Given the description of an element on the screen output the (x, y) to click on. 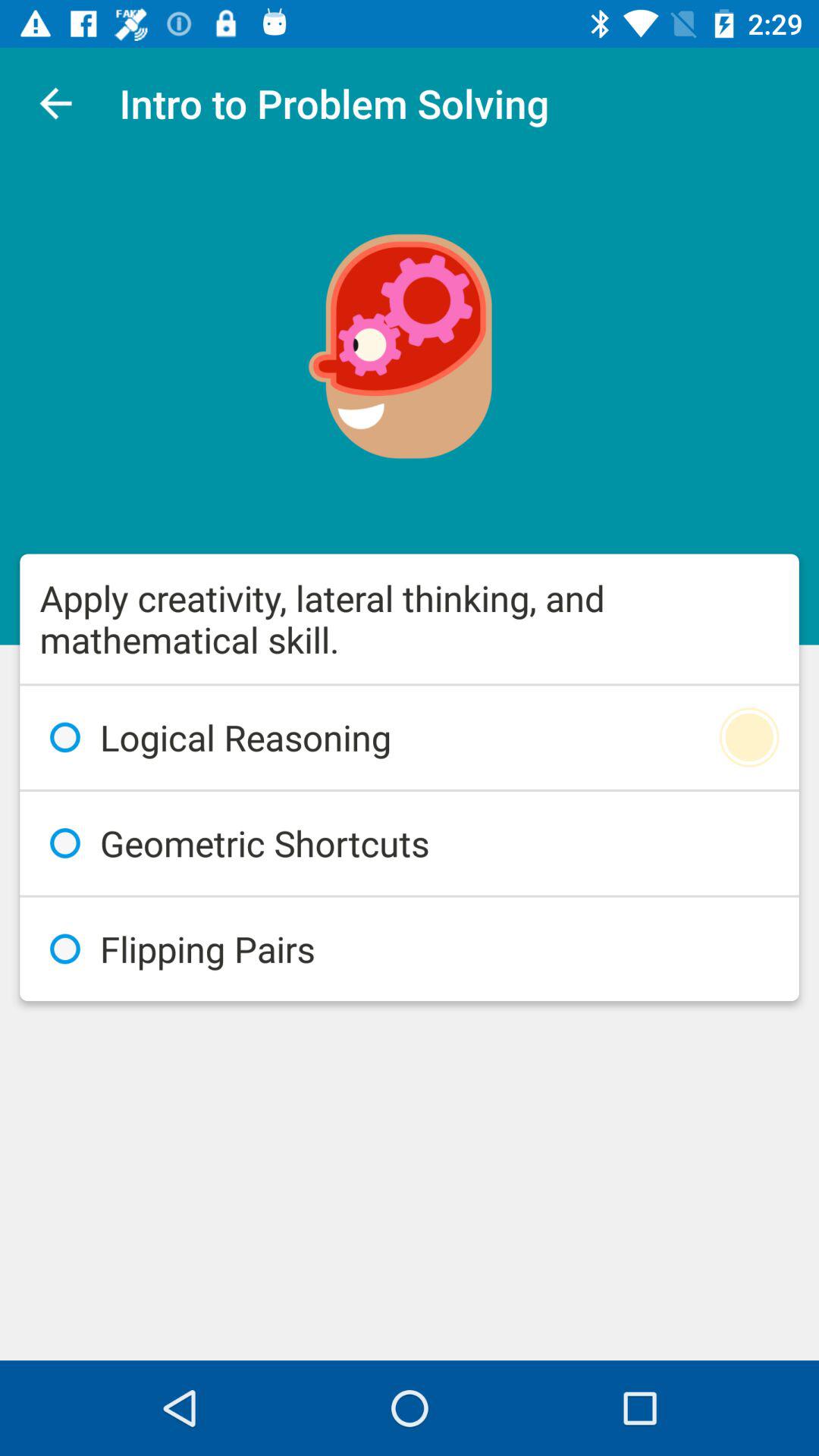
jump until logical reasoning (409, 737)
